Given the description of an element on the screen output the (x, y) to click on. 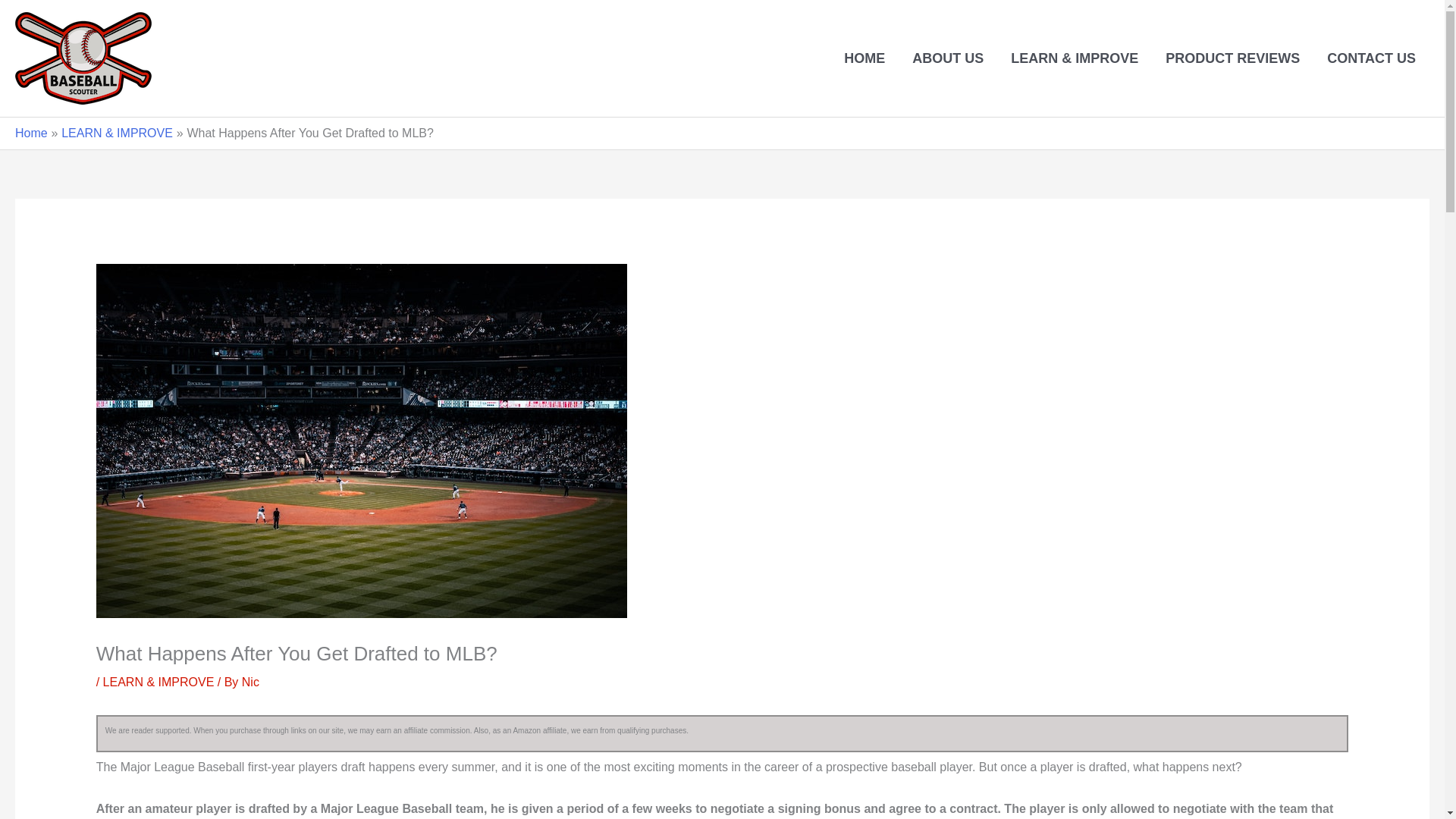
CONTACT US (1371, 58)
Home (31, 132)
View all posts by Nic (250, 681)
Nic (250, 681)
PRODUCT REVIEWS (1232, 58)
